Given the description of an element on the screen output the (x, y) to click on. 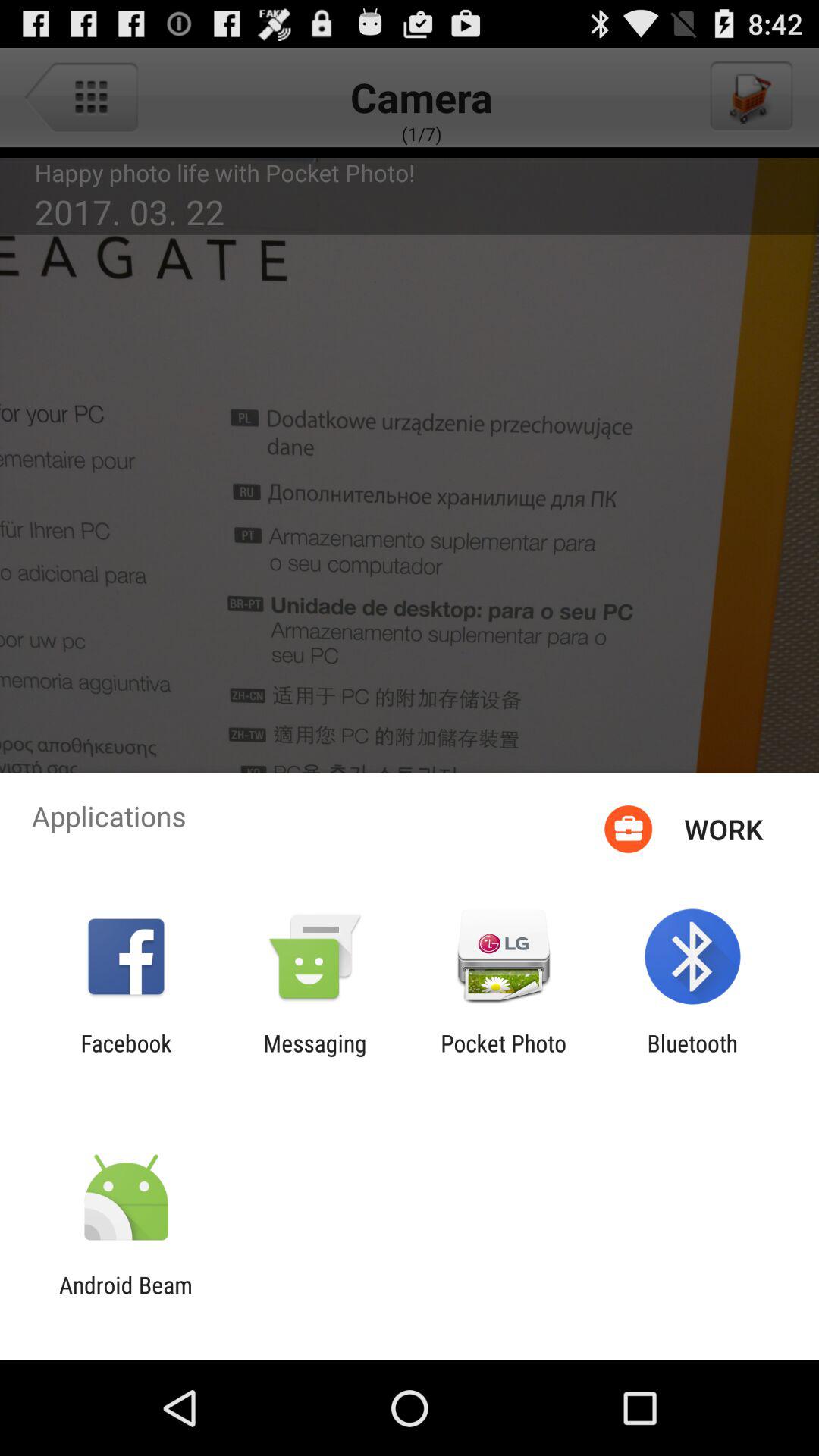
select the item to the right of the messaging app (503, 1056)
